Given the description of an element on the screen output the (x, y) to click on. 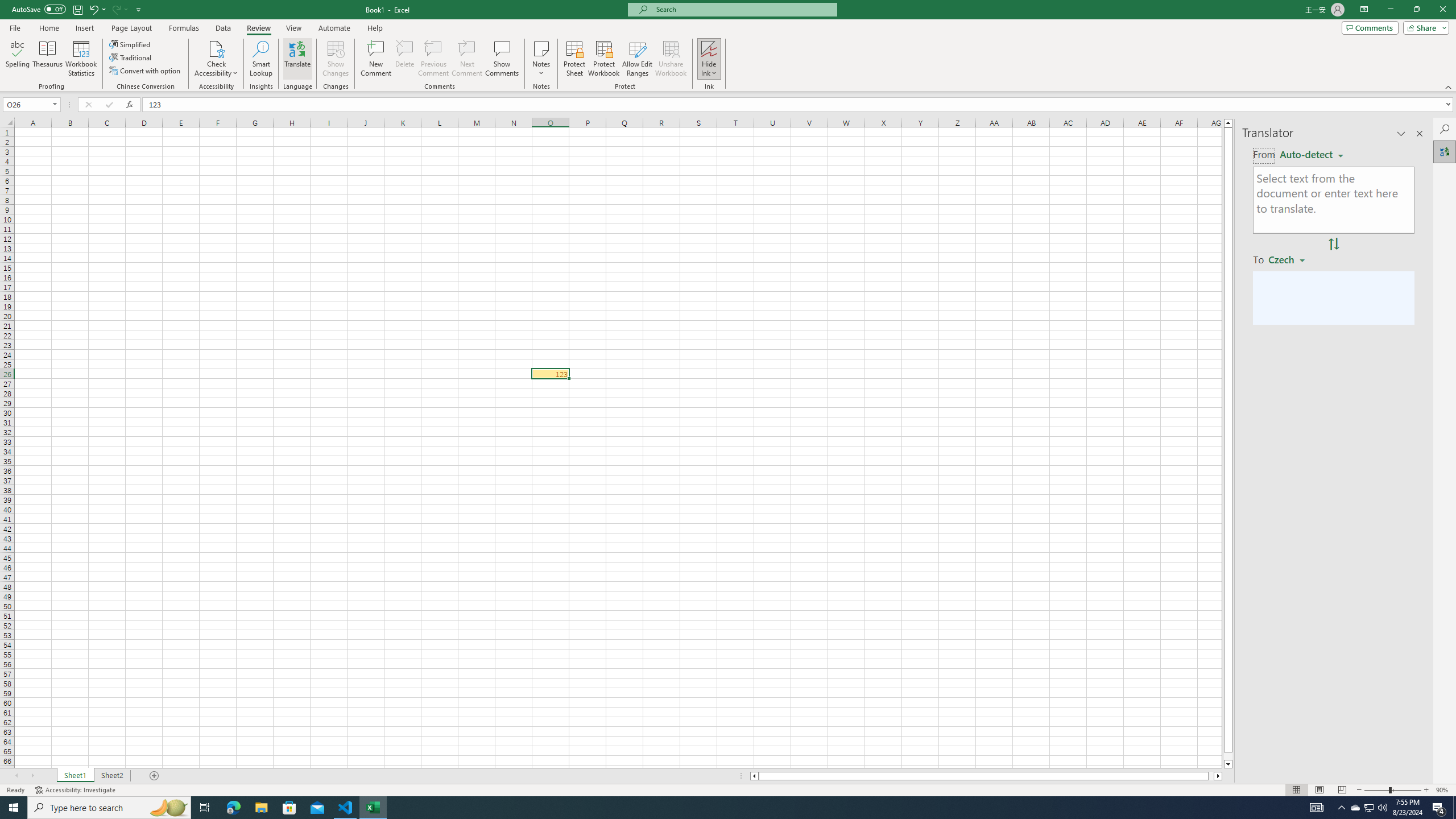
Unshare Workbook (670, 58)
Simplified (130, 44)
Translate (297, 58)
Previous Comment (432, 58)
Smart Lookup (260, 58)
Traditional (131, 56)
